Given the description of an element on the screen output the (x, y) to click on. 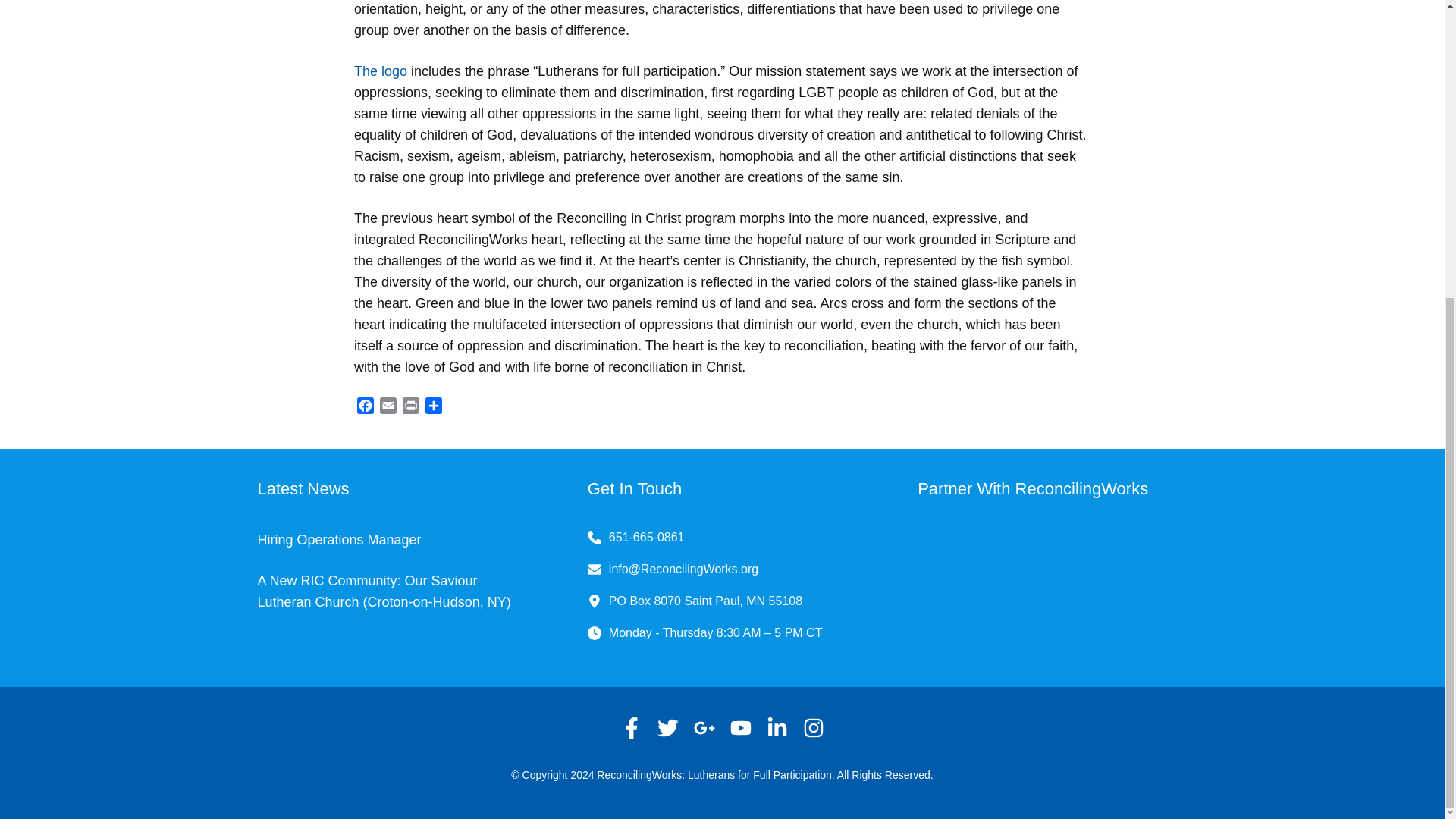
Print (410, 407)
Facebook (365, 407)
Email (387, 407)
